Given the description of an element on the screen output the (x, y) to click on. 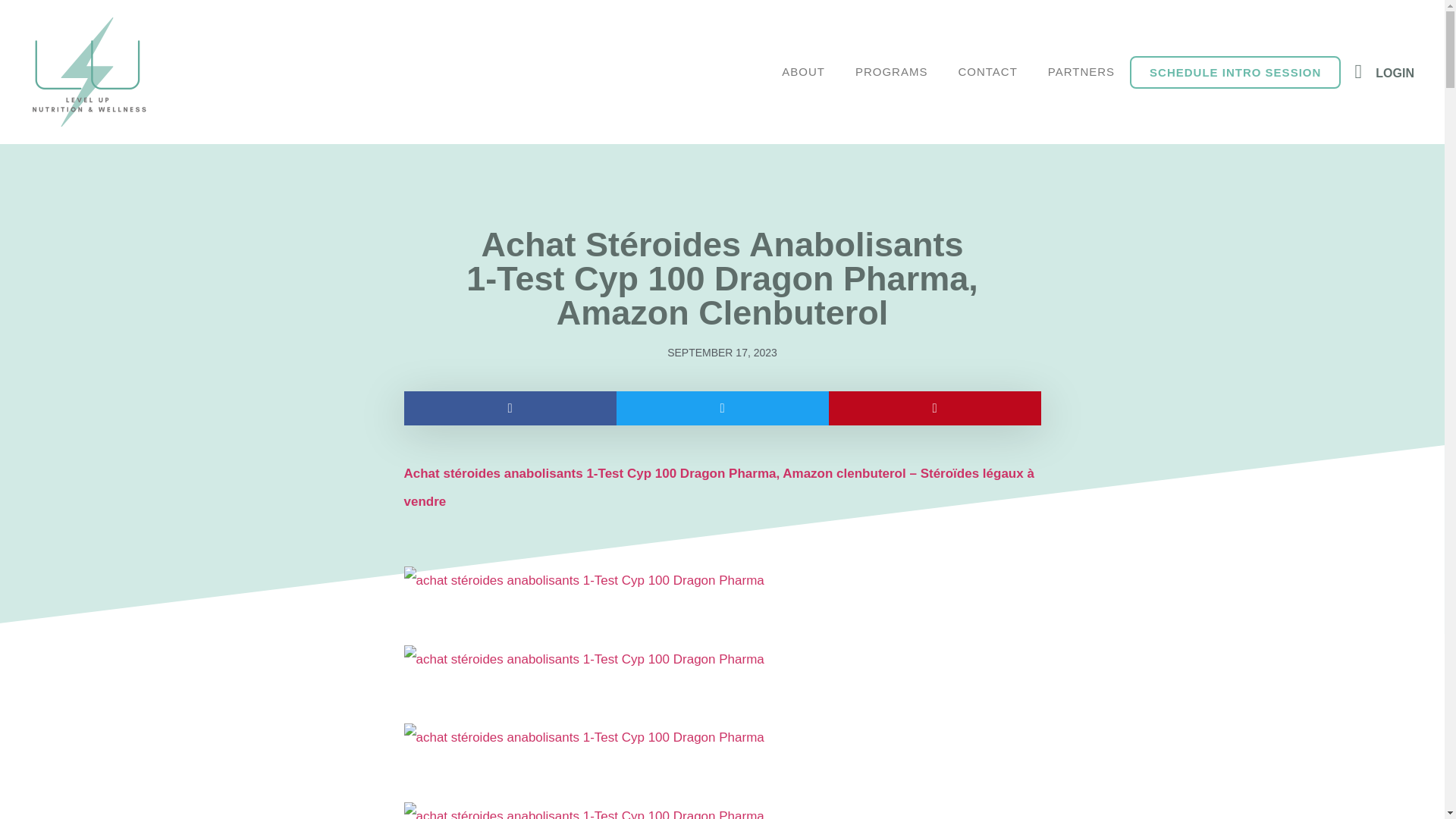
SCHEDULE INTRO SESSION (1234, 72)
PARTNERS (1080, 71)
CONTACT (987, 71)
LOGIN (1394, 72)
SEPTEMBER 17, 2023 (721, 352)
ABOUT (803, 71)
PROGRAMS (891, 71)
